Given the description of an element on the screen output the (x, y) to click on. 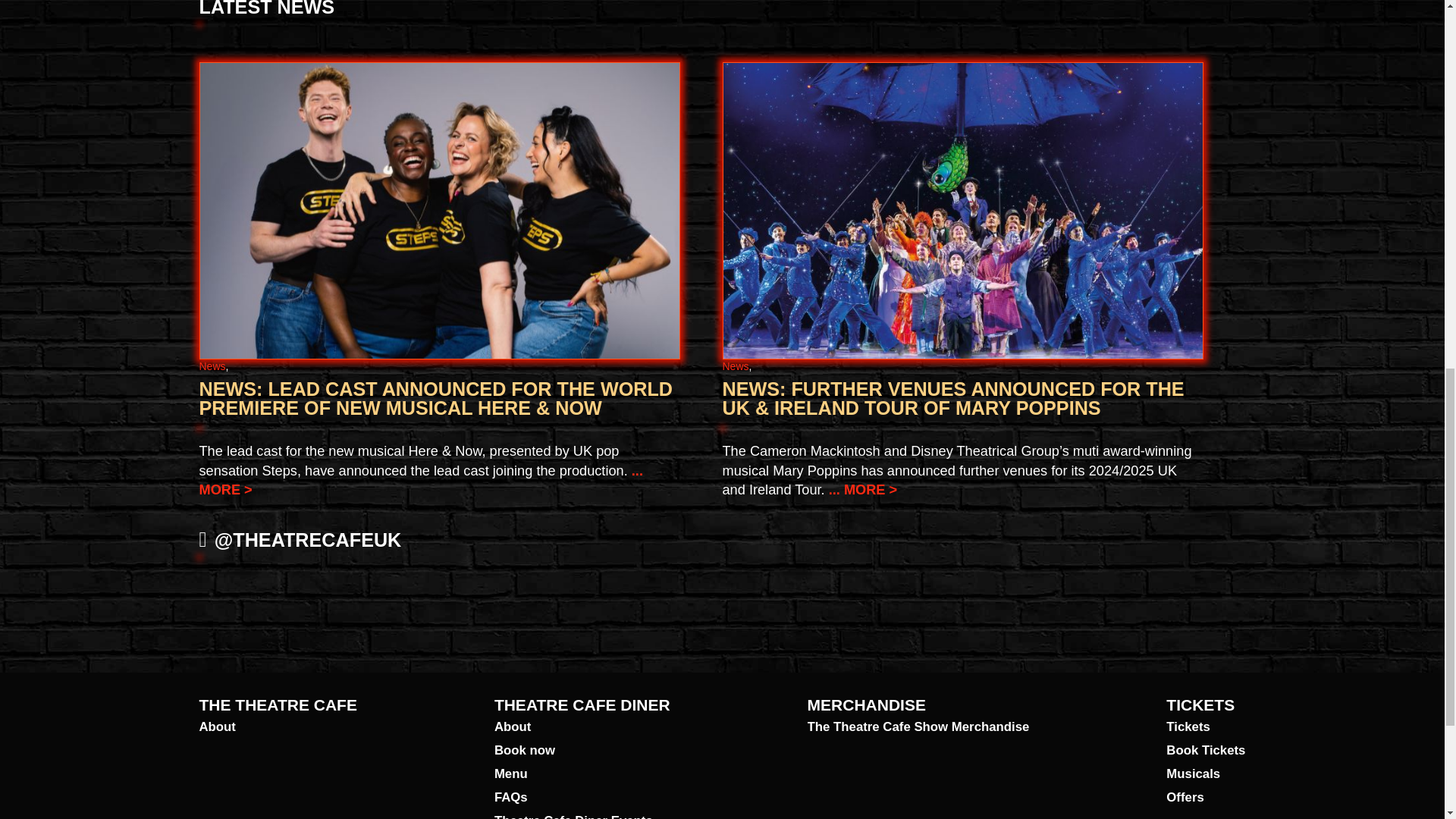
About (582, 727)
About (277, 727)
News (735, 366)
THE THEATRE CAFE (277, 704)
News (211, 366)
